Given the description of an element on the screen output the (x, y) to click on. 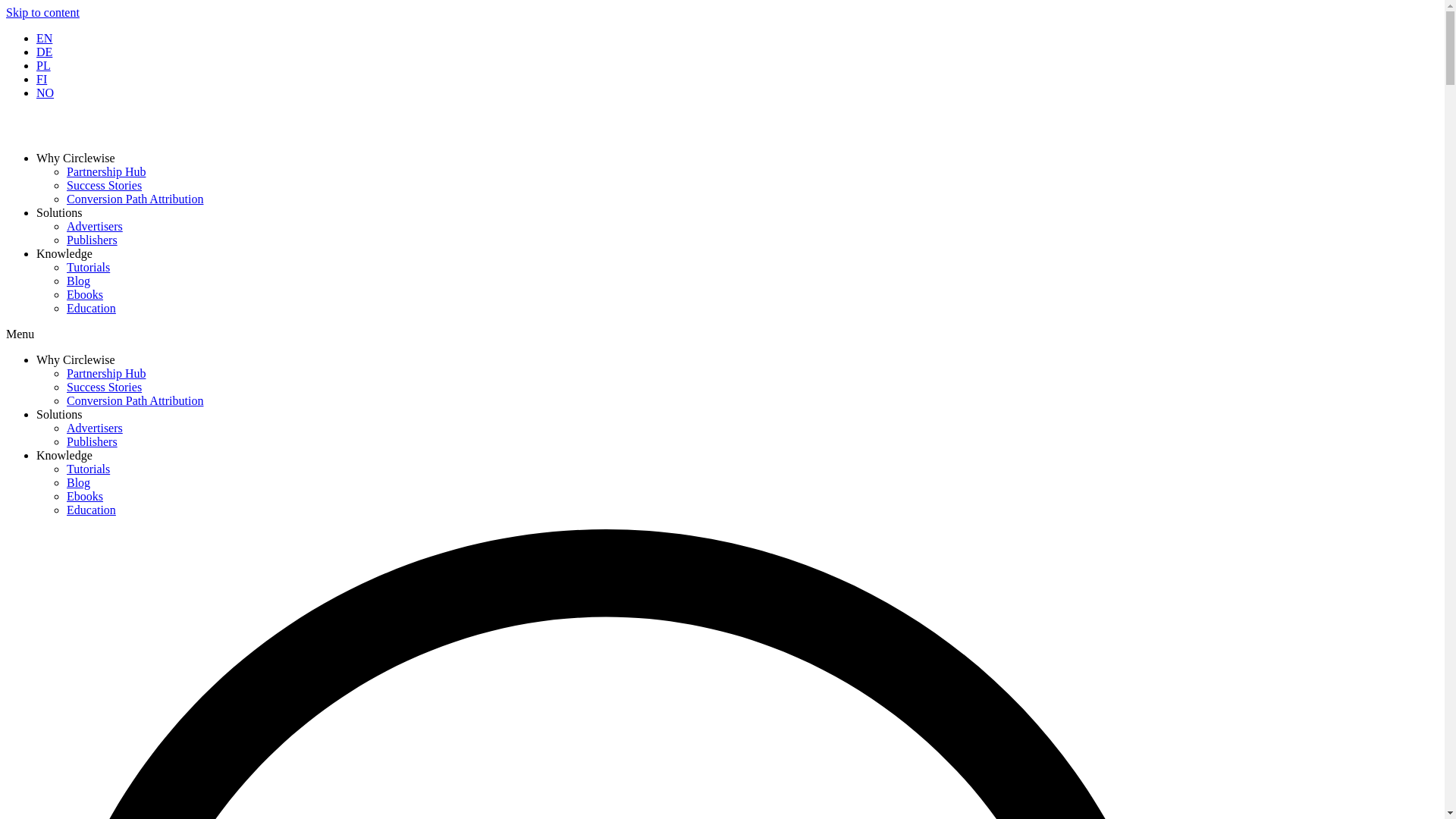
NO (44, 92)
Success Stories (103, 386)
Publishers (91, 239)
Success Stories (103, 185)
Ebooks (84, 294)
Partnership Hub (105, 373)
Publishers (91, 440)
Tutorials (88, 468)
Blog (78, 481)
Advertisers (94, 427)
Why Circlewise (75, 157)
DE (44, 51)
Advertisers (94, 226)
Tutorials (88, 267)
Conversion Path Attribution (134, 400)
